Given the description of an element on the screen output the (x, y) to click on. 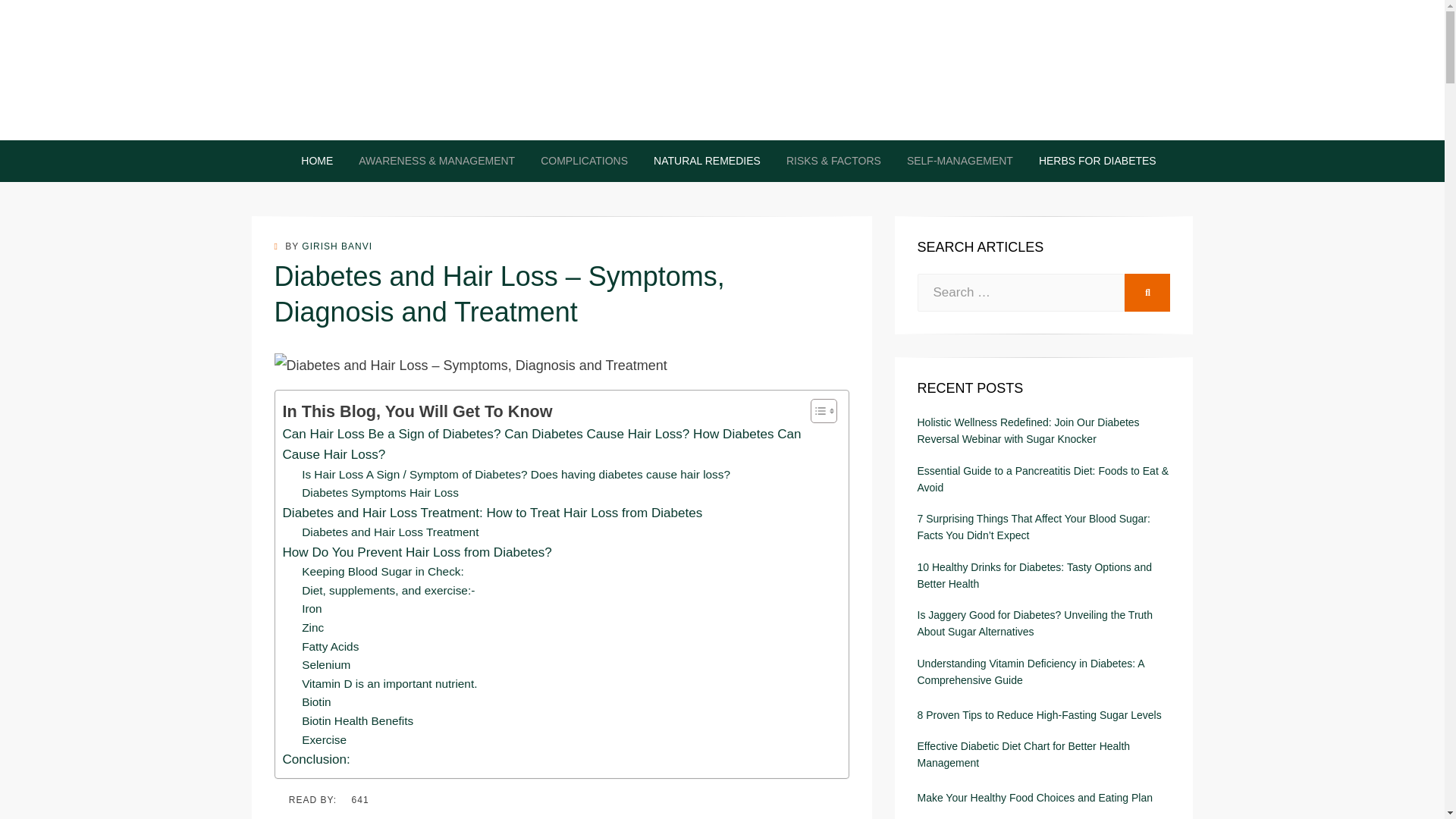
Biotin (315, 701)
Diabetes Symptoms Hair Loss (379, 493)
NATURAL REMEDIES (706, 160)
Diet, supplements, and exercise:- (387, 590)
Keeping Blood Sugar in Check: (382, 571)
HOME (317, 160)
Iron (311, 609)
How Do You Prevent Hair Loss from Diabetes? (416, 552)
GIRISH BANVI (336, 245)
Exercise (323, 740)
Biotin Health Benefits (357, 721)
Iron (311, 609)
Fatty Acids (329, 647)
